Given the description of an element on the screen output the (x, y) to click on. 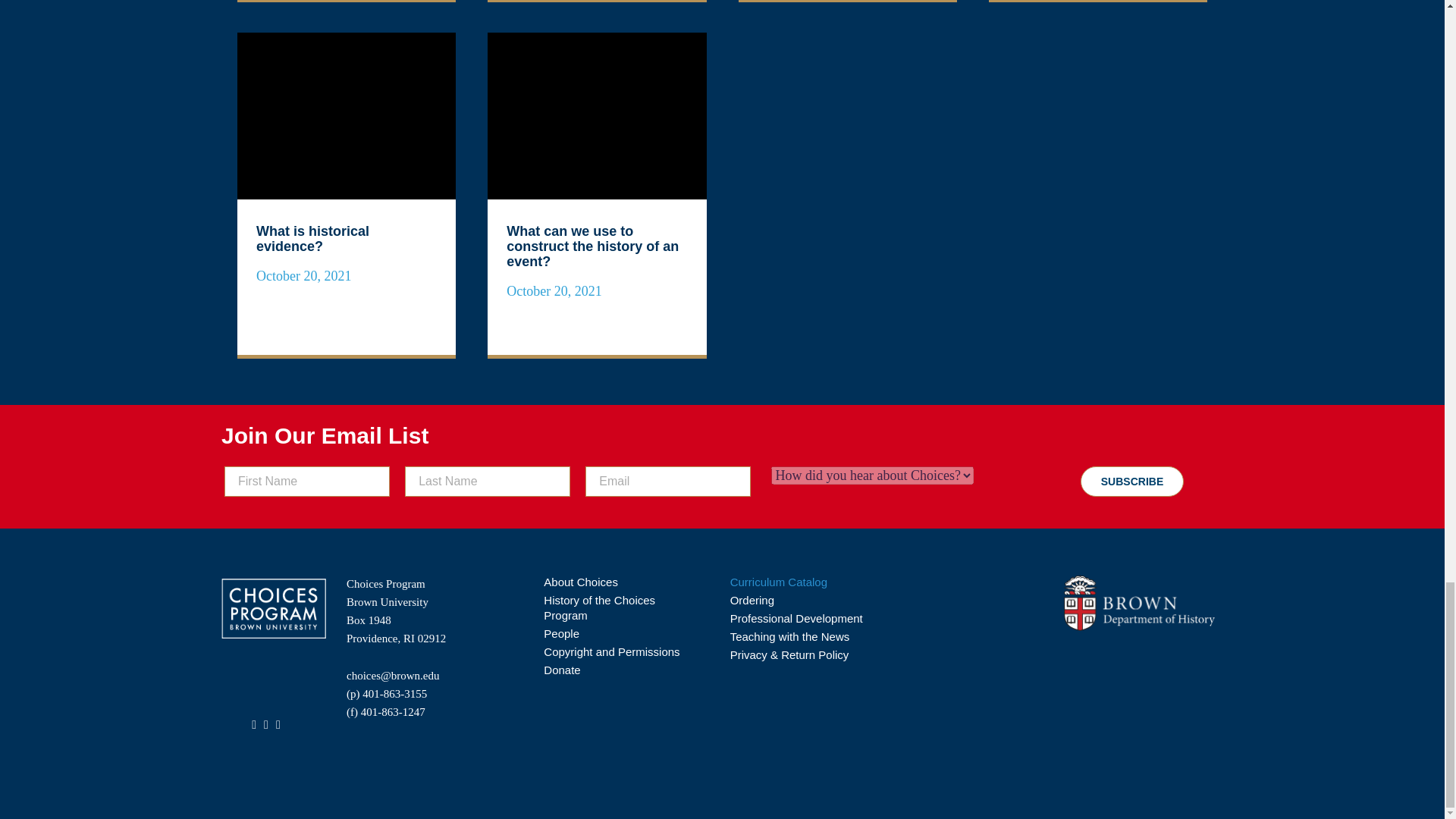
Subscribe (1131, 481)
